Given the description of an element on the screen output the (x, y) to click on. 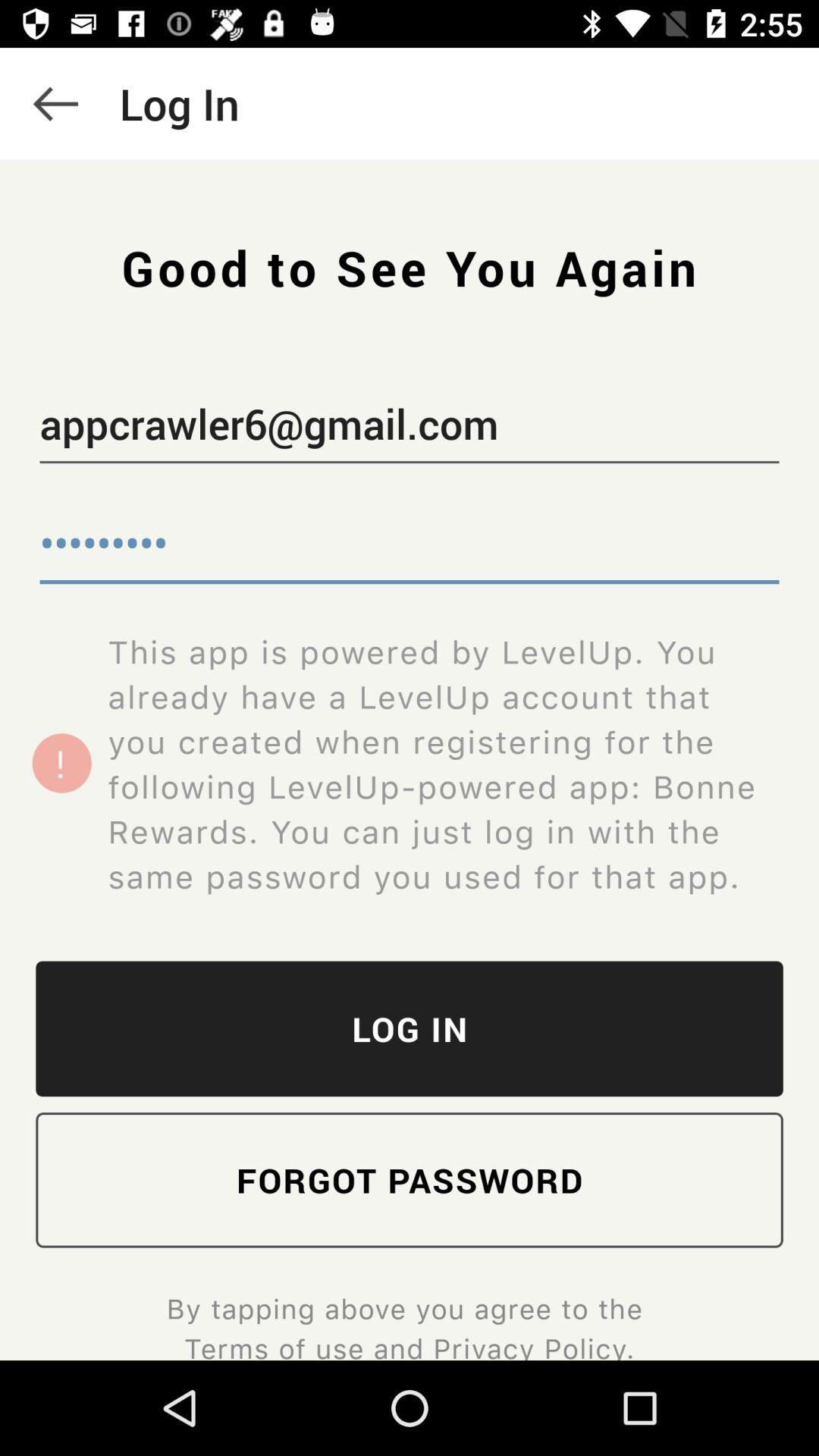
turn on the icon above the appcrawler6@gmail.com (55, 103)
